Given the description of an element on the screen output the (x, y) to click on. 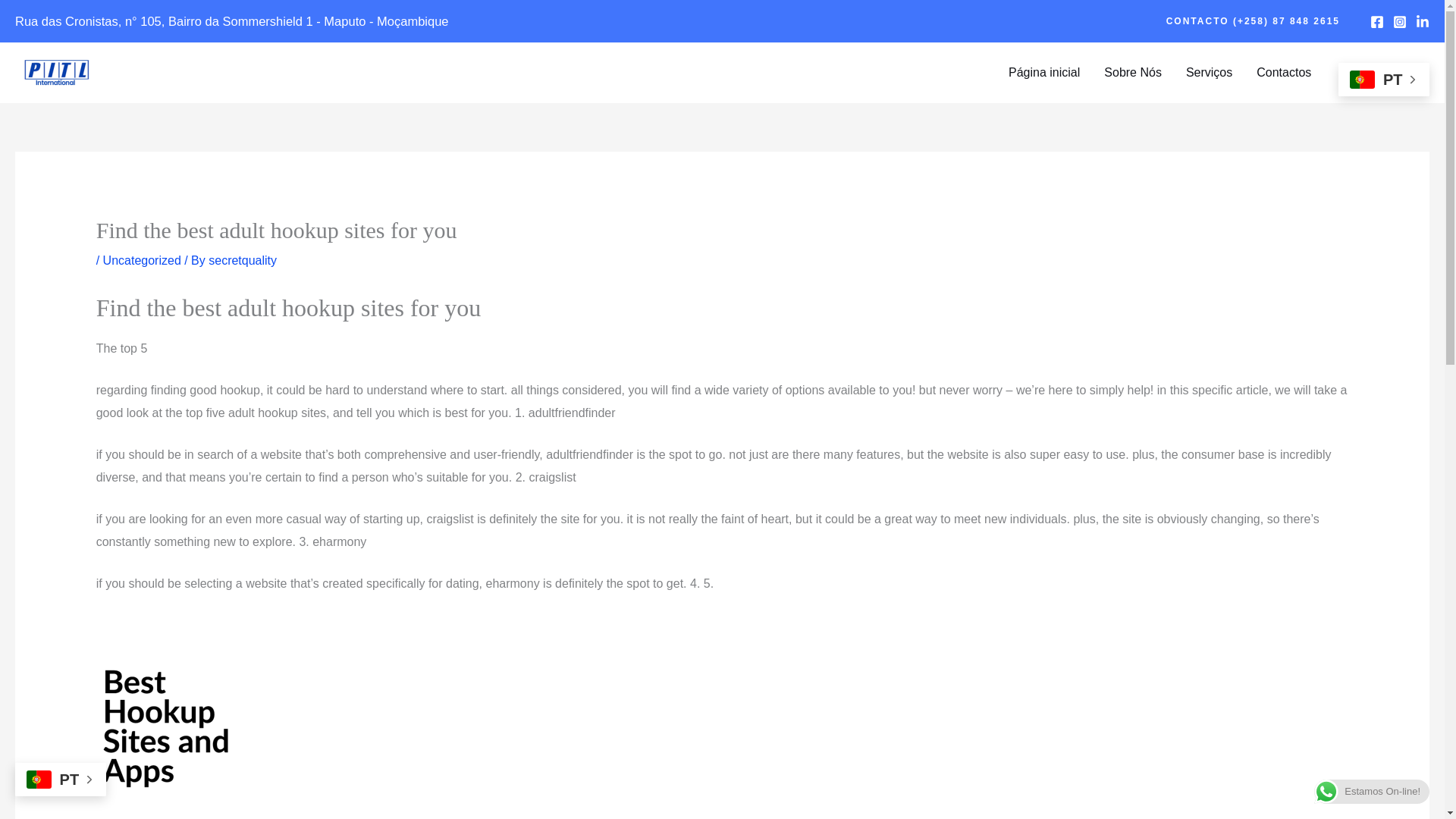
Uncategorized (141, 259)
View all posts by secretquality (242, 259)
secretquality (242, 259)
Contactos (1283, 72)
